Given the description of an element on the screen output the (x, y) to click on. 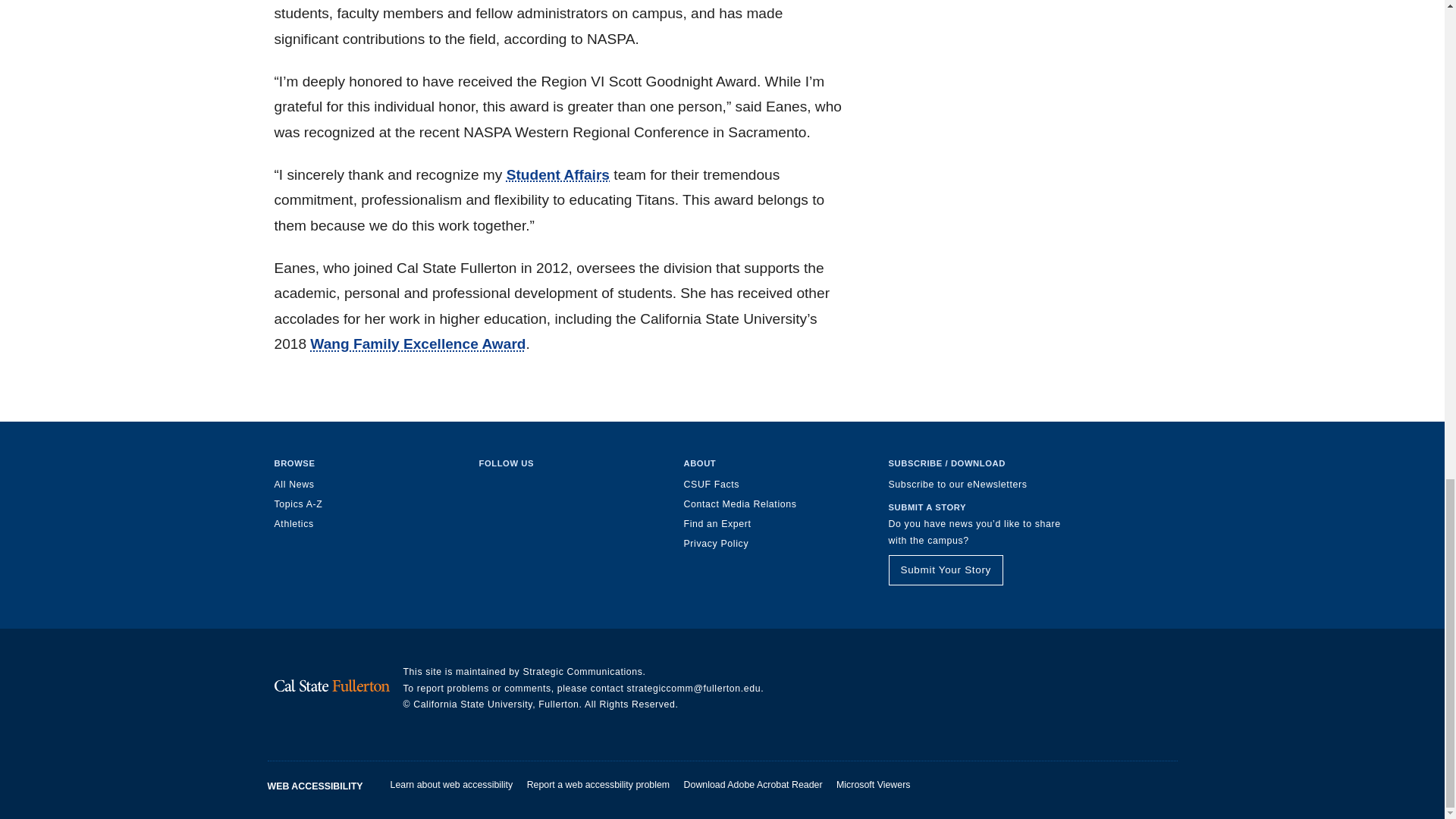
LinkedIn (545, 487)
Instagram (575, 487)
Twitter (515, 487)
YouTube (605, 487)
Facebook (484, 487)
